Given the description of an element on the screen output the (x, y) to click on. 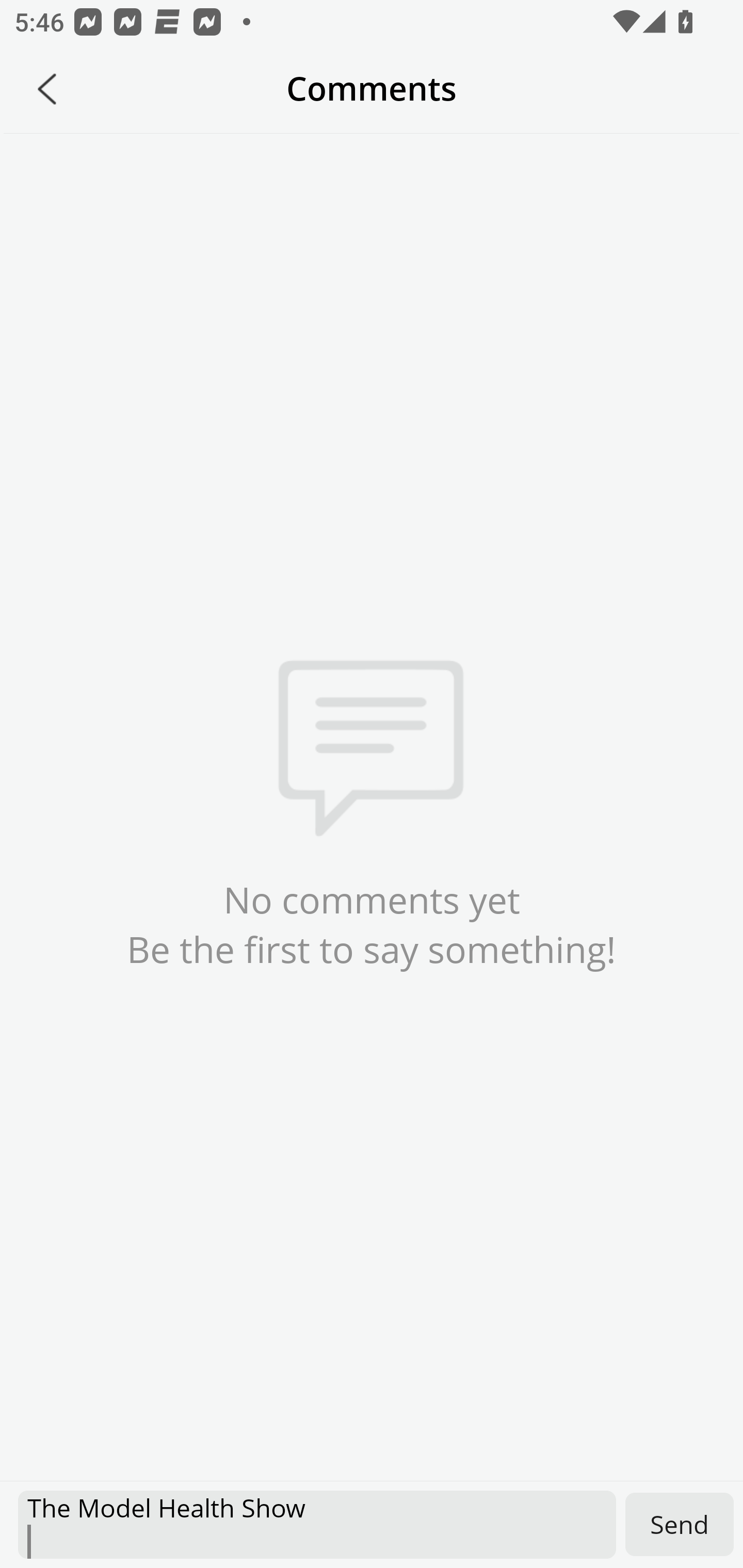
Back (46, 88)
The Model Health Show
 (316, 1524)
Send (679, 1523)
